Given the description of an element on the screen output the (x, y) to click on. 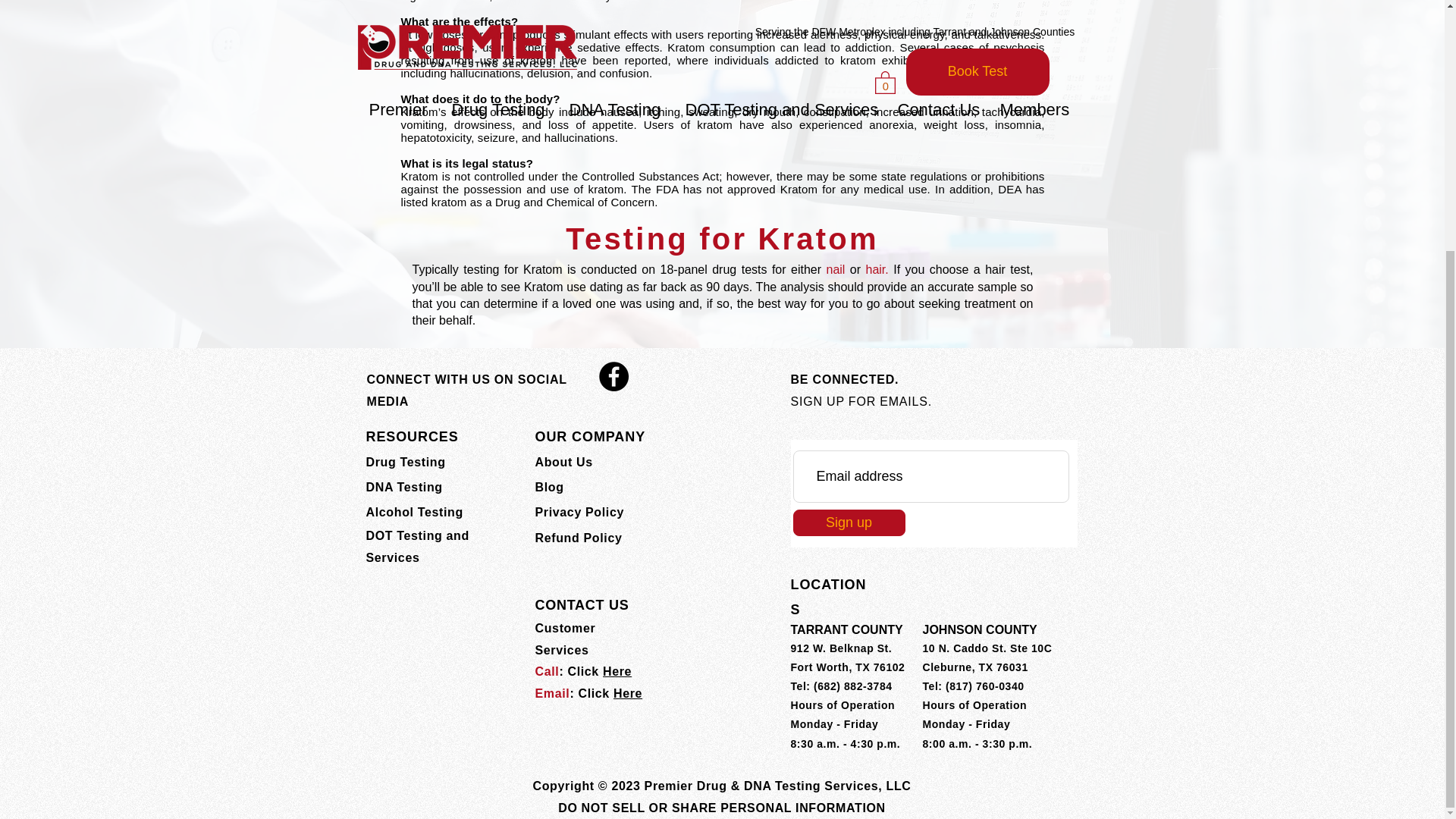
DOT Testing and (416, 535)
Drug Testing (405, 461)
Refund Policy (579, 537)
Privacy Policy (579, 512)
CONTACT US (581, 604)
Sign up (849, 522)
Call: Click Here (583, 671)
About Us (563, 461)
Blog (549, 486)
Customer Services (565, 638)
Email: Click Here (589, 693)
Alcohol Testing (414, 512)
DNA Testing (403, 486)
